Given the description of an element on the screen output the (x, y) to click on. 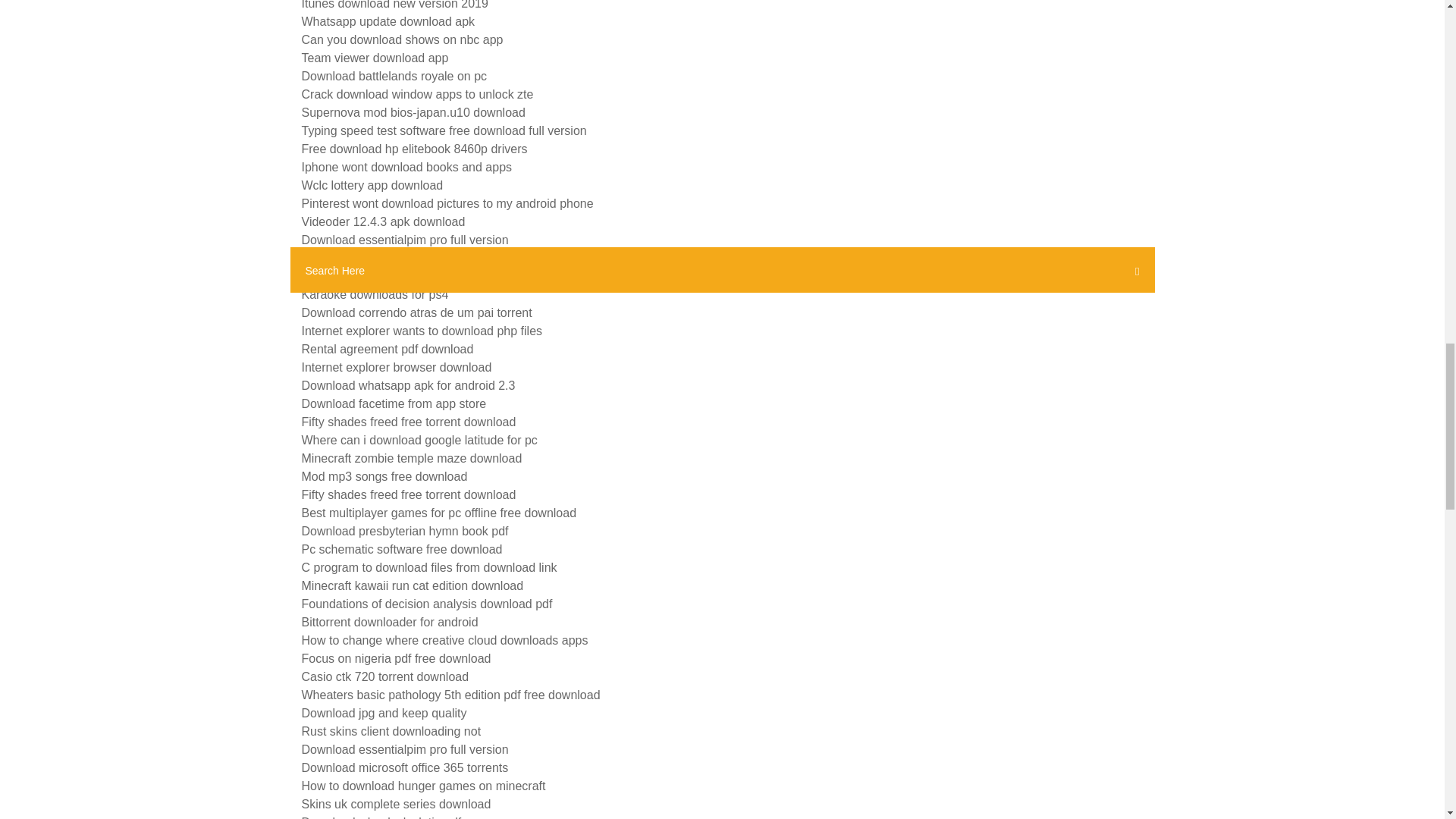
Can you download shows on nbc app (402, 39)
Free download hp elitebook 8460p drivers (414, 148)
Internet explorer wants to download php files (422, 330)
Rental agreement pdf download (387, 349)
Download battlelands royale on pc (394, 75)
Karaoke downloads for ps4 (374, 294)
Wclc lottery app download (372, 185)
Download essentialpim pro full version (404, 239)
Dreaming alone pc free download (392, 257)
Internet explorer browser download (396, 367)
